Given the description of an element on the screen output the (x, y) to click on. 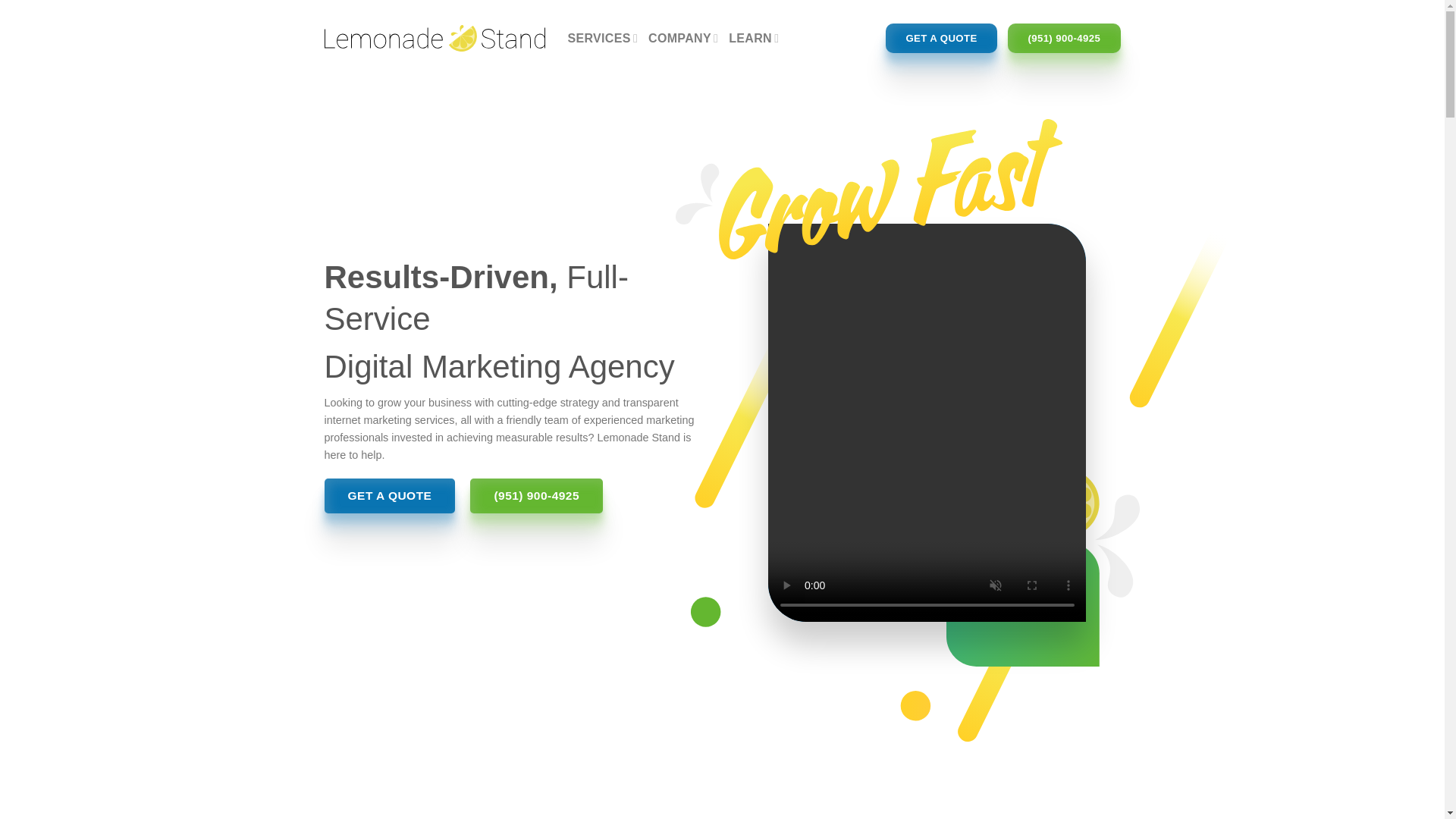
GET A QUOTE (389, 496)
GET A QUOTE (941, 38)
COMPANY (682, 37)
Lemonade Stand - Build then Bless (434, 38)
SERVICES (602, 37)
LEARN (753, 37)
